Given the description of an element on the screen output the (x, y) to click on. 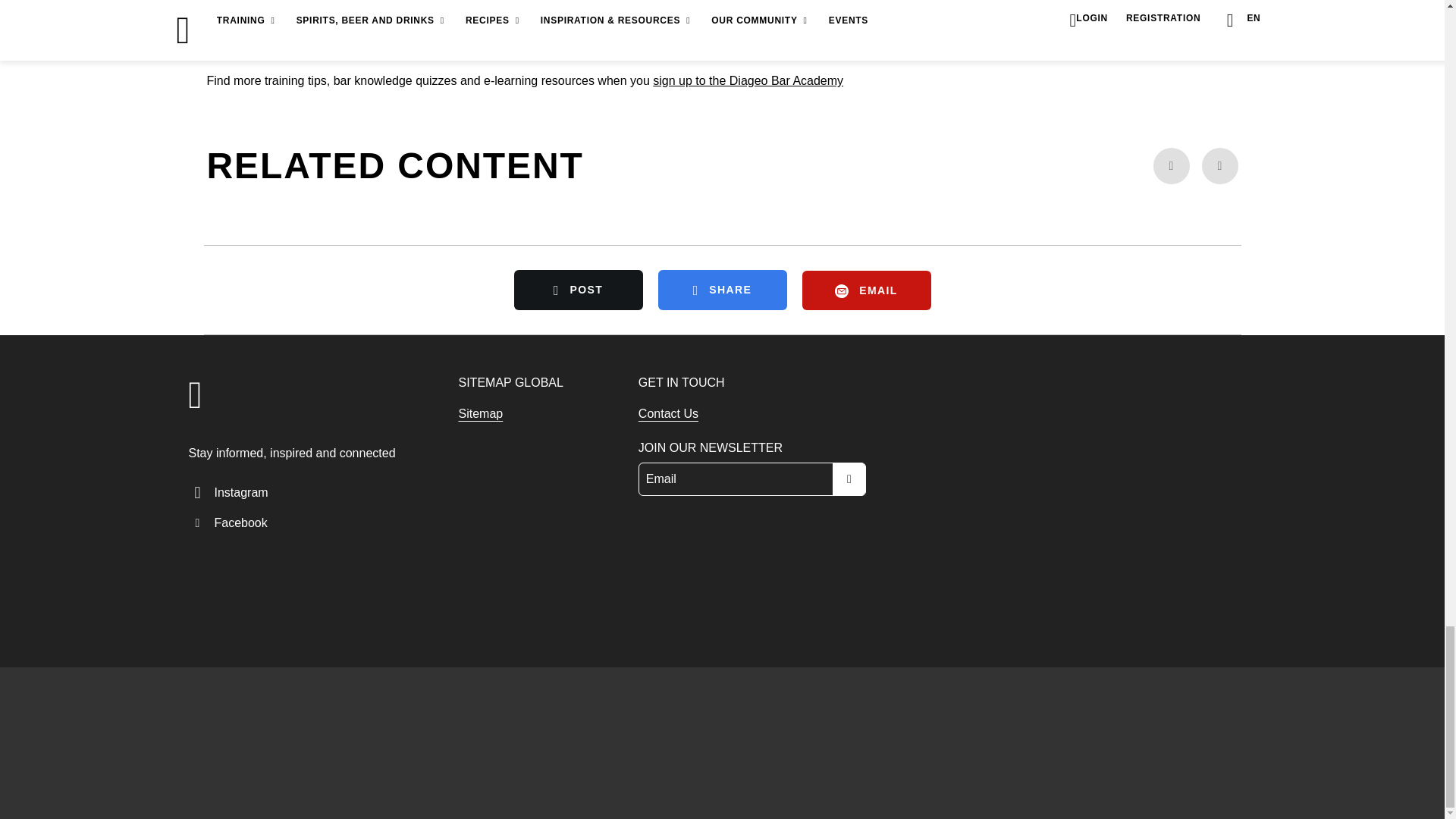
Registration (747, 80)
